Given the description of an element on the screen output the (x, y) to click on. 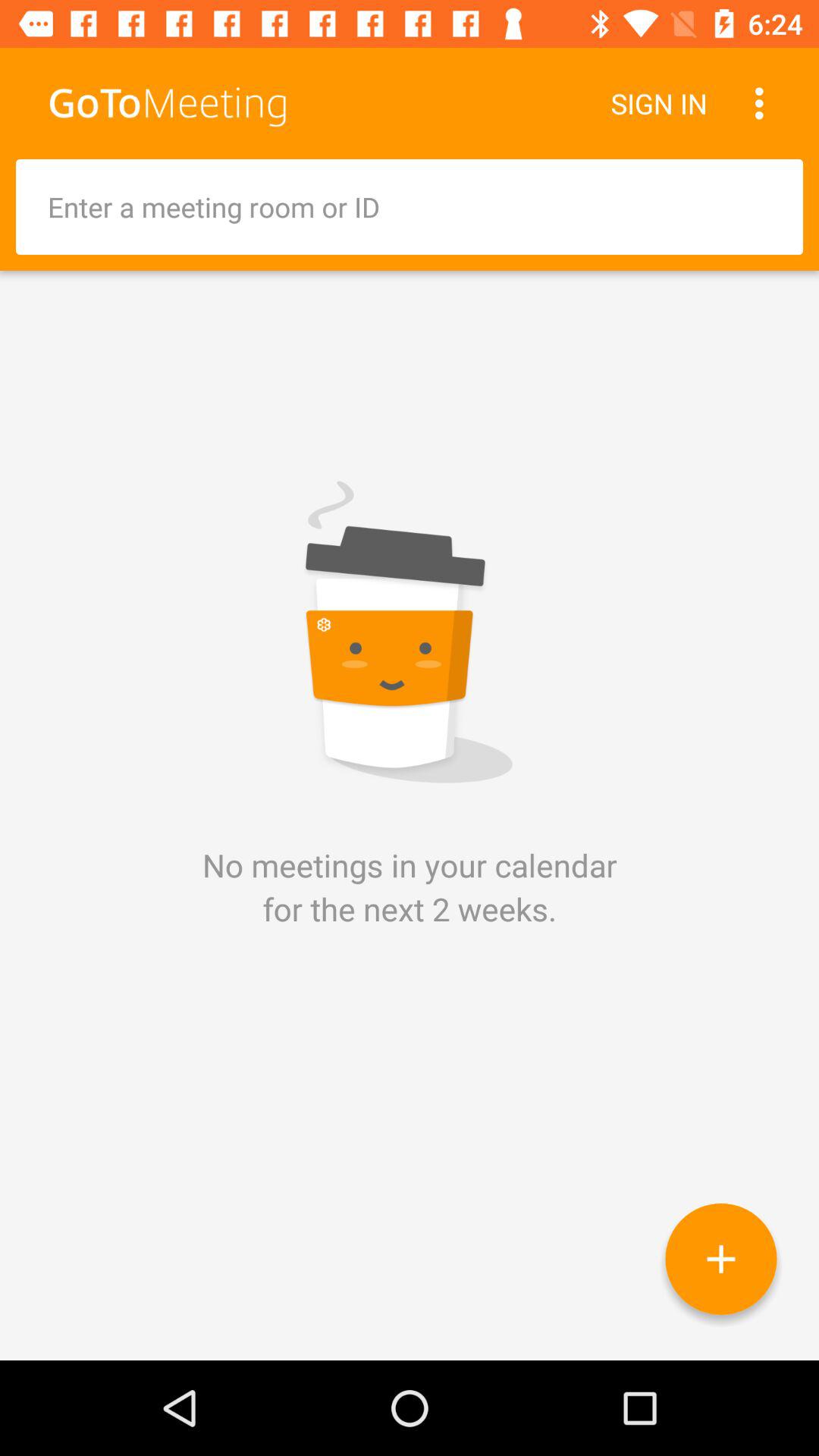
choose the item below the sign in icon (409, 206)
